Given the description of an element on the screen output the (x, y) to click on. 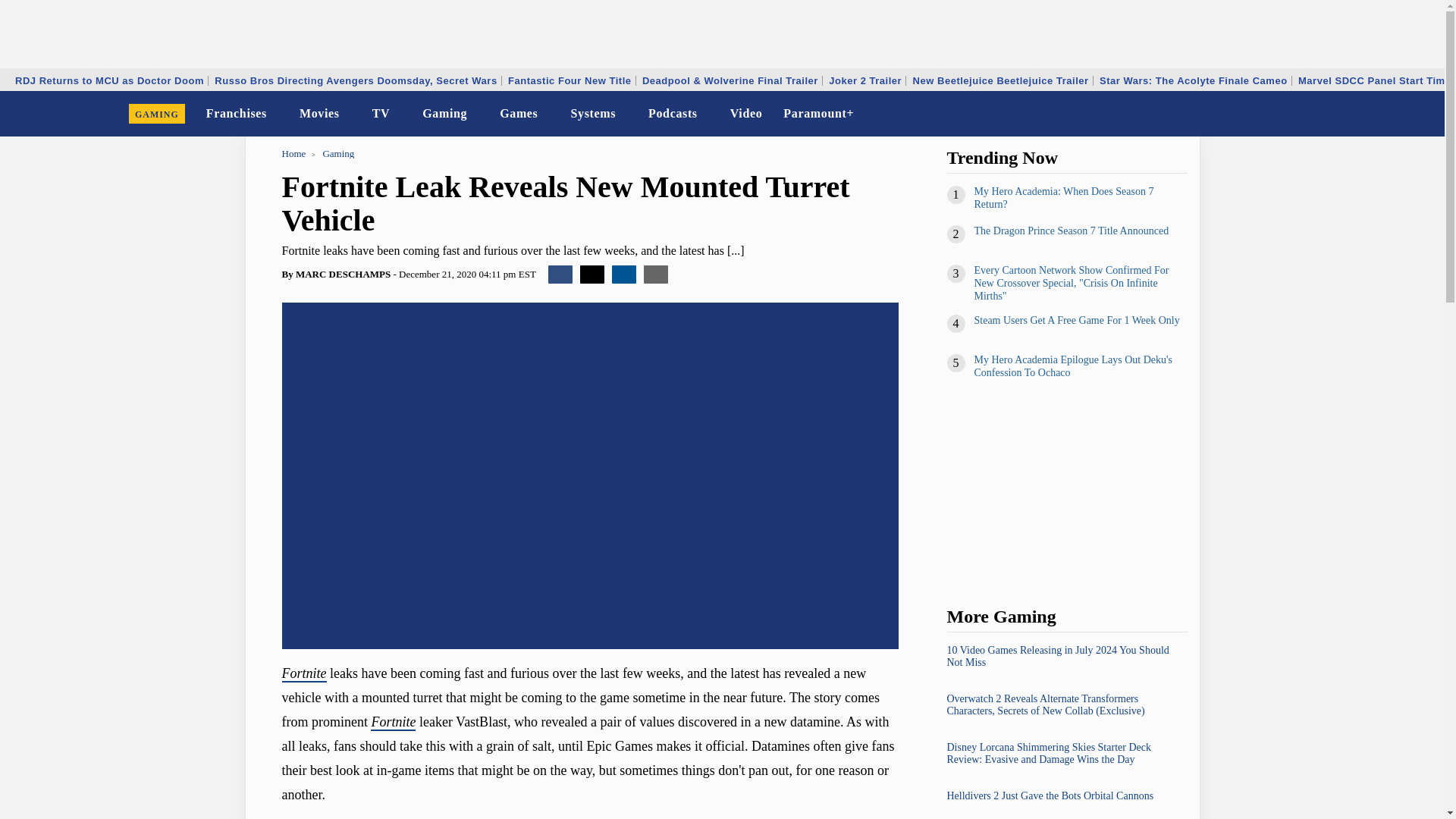
Arrow (277, 113)
Joker 2 Trailer (865, 80)
Dark Mode (1394, 113)
GAMING (157, 113)
Arrow (400, 113)
Movies (320, 113)
Arrow (547, 114)
Arrow (400, 114)
Fantastic Four New Title (568, 80)
Arrow (707, 114)
Arrow (477, 114)
Arrow (625, 114)
TV (381, 113)
New Beetlejuice Beetlejuice Trailer (1000, 80)
Star Wars: The Acolyte Finale Cameo (1193, 80)
